Given the description of an element on the screen output the (x, y) to click on. 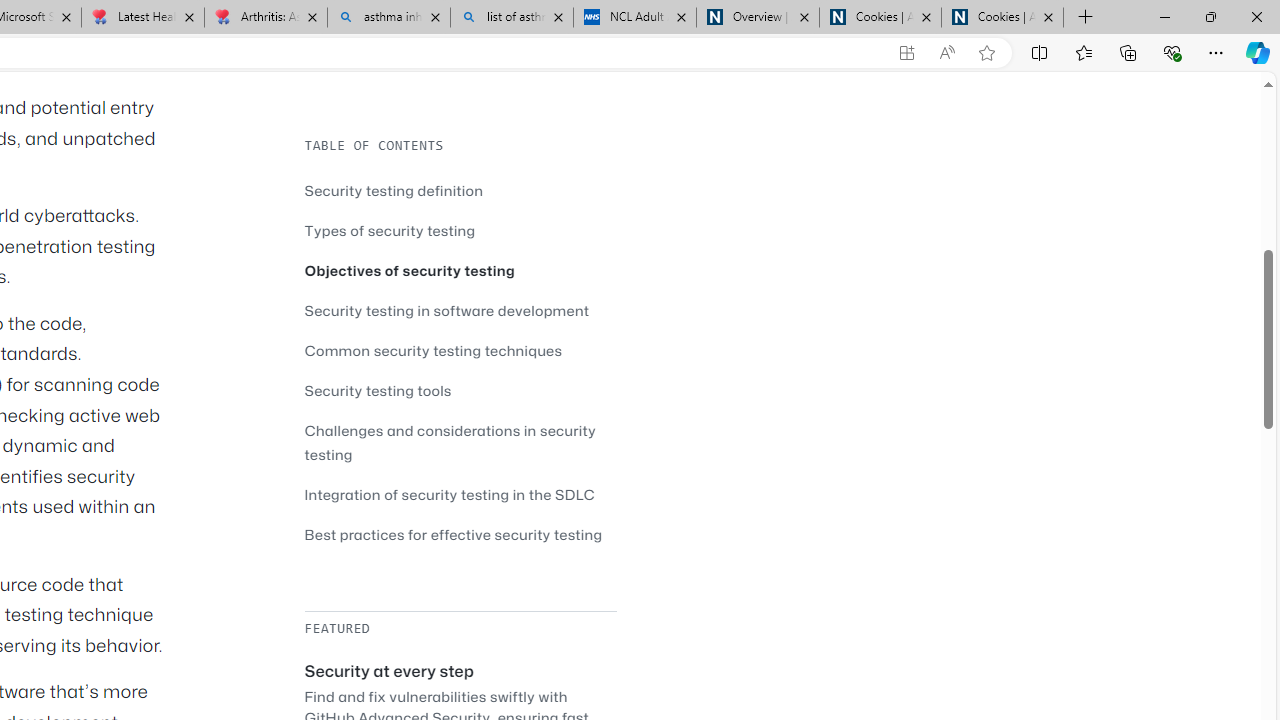
Security testing definition (393, 190)
Challenges and considerations in security testing (450, 441)
Objectives of security testing (409, 270)
Types of security testing (460, 230)
Security testing tools (460, 390)
asthma inhaler - Search (388, 17)
Best practices for effective security testing (460, 534)
Common security testing techniques (433, 350)
Types of security testing (390, 230)
